Given the description of an element on the screen output the (x, y) to click on. 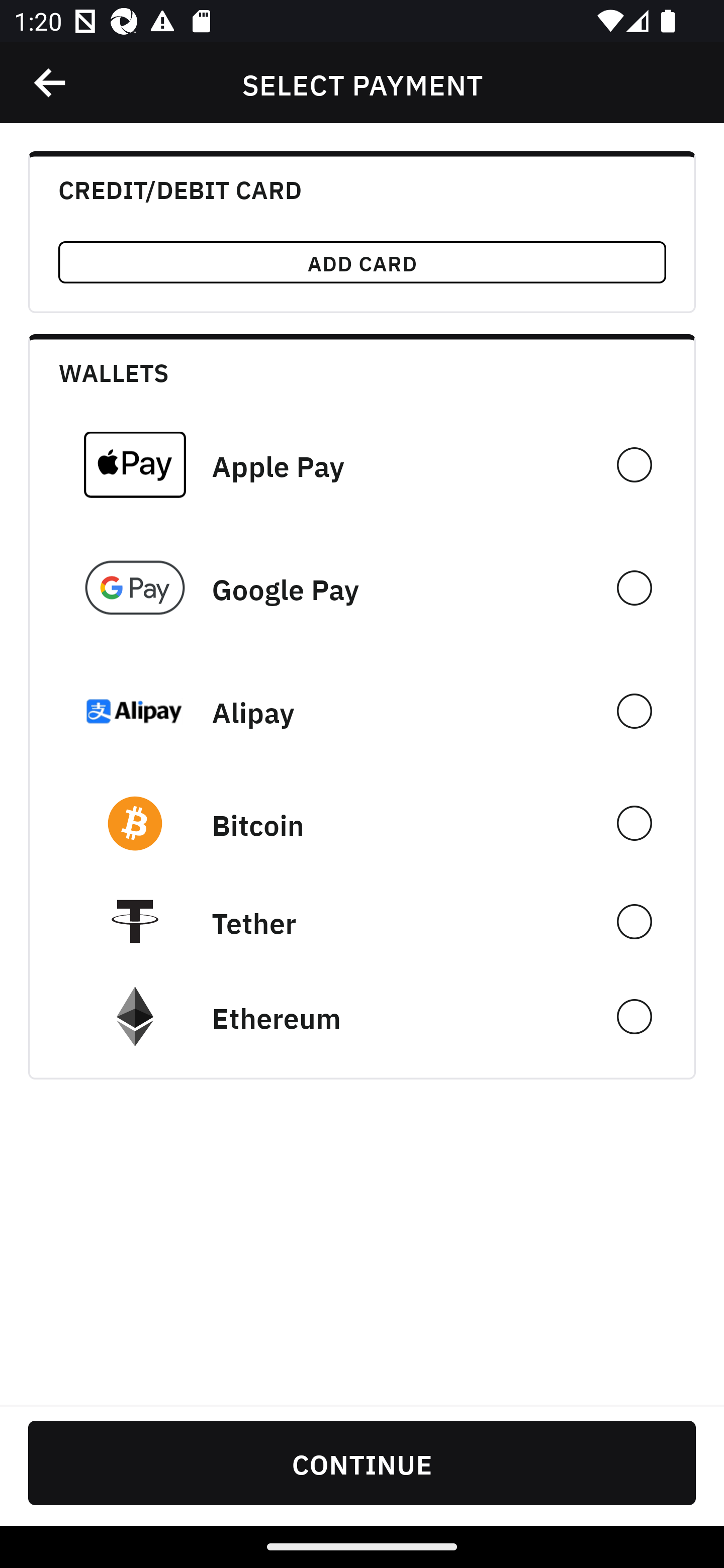
 (50, 83)
ADD CARD (362, 262)
Apple Pay (362, 464)
Google Pay (362, 587)
Alipay (362, 711)
󰠓 Bitcoin (362, 823)
Tether (362, 921)
Ethereum (362, 1016)
CONTINUE (361, 1462)
